Given the description of an element on the screen output the (x, y) to click on. 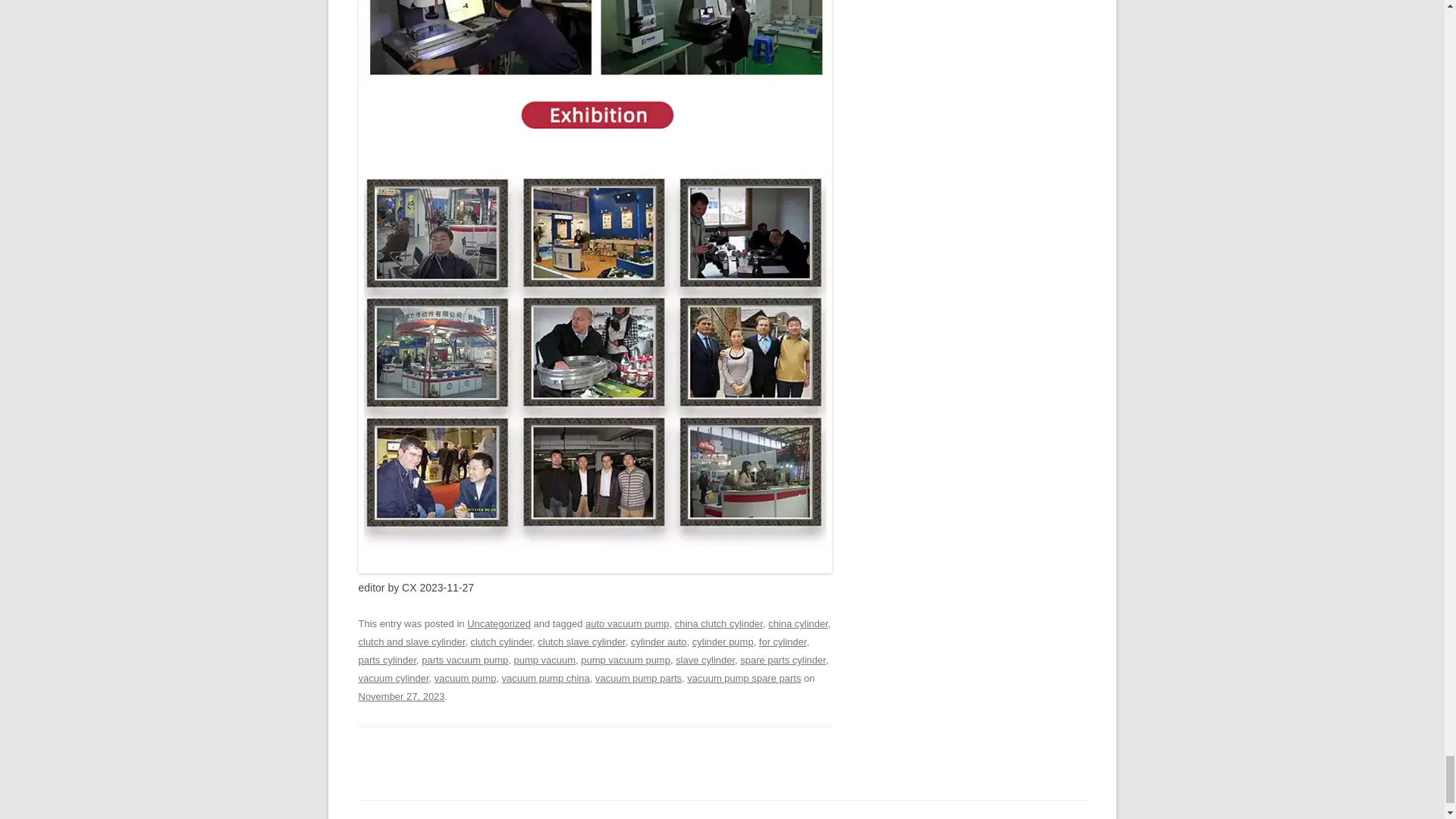
china cylinder (798, 623)
vacuum pump spare parts (743, 677)
clutch slave cylinder (580, 641)
clutch and slave cylinder (411, 641)
china clutch cylinder (718, 623)
cylinder pump (723, 641)
auto vacuum pump (626, 623)
spare parts cylinder (782, 659)
vacuum pump (464, 677)
cylinder auto (658, 641)
vacuum pump parts (638, 677)
parts cylinder (387, 659)
Uncategorized (499, 623)
pump vacuum (544, 659)
clutch cylinder (501, 641)
